Given the description of an element on the screen output the (x, y) to click on. 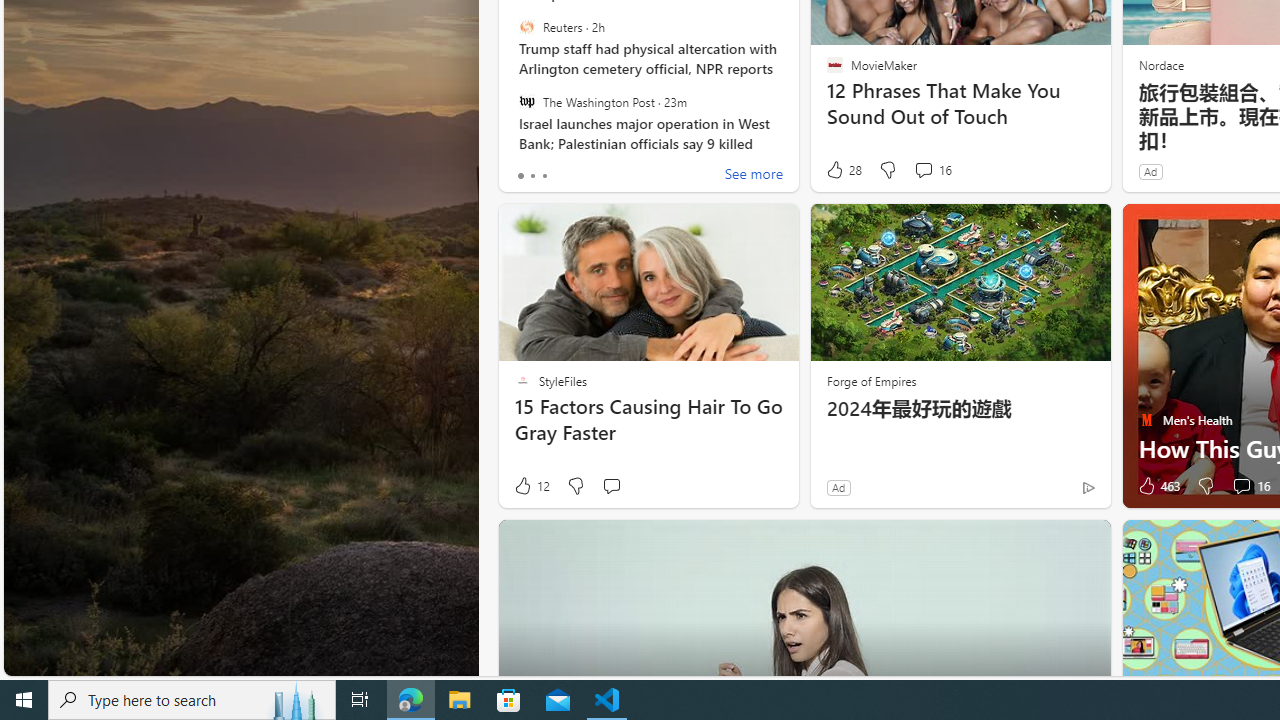
Forge of Empires (870, 380)
Start the conversation (610, 485)
Ad (838, 487)
12 Like (531, 485)
The Washington Post (526, 101)
28 Like (843, 170)
tab-2 (543, 175)
Dislike (1204, 485)
463 Like (1157, 485)
Reuters (526, 27)
Ad Choice (1087, 487)
